Given the description of an element on the screen output the (x, y) to click on. 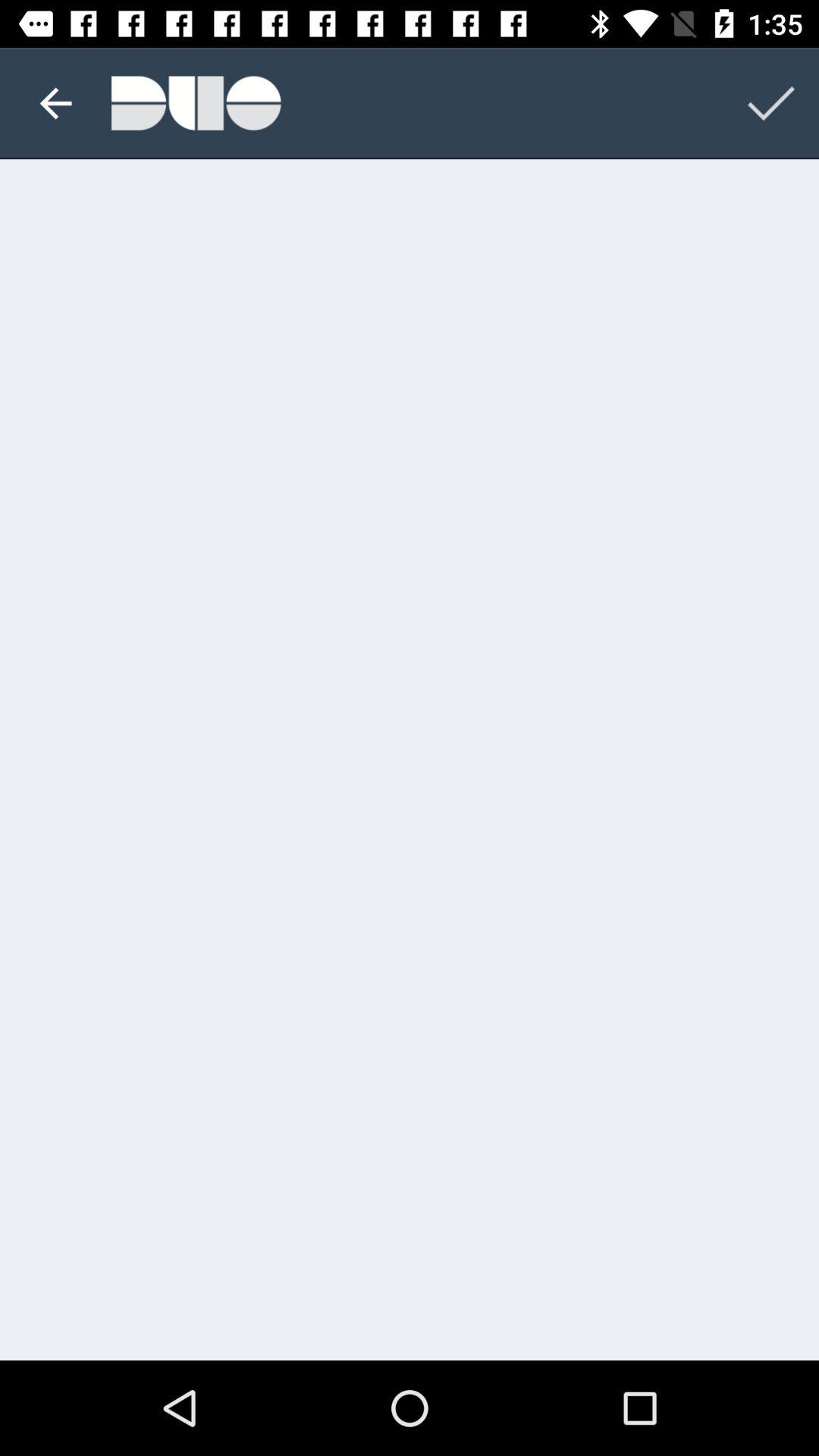
select item at the top right corner (771, 103)
